Given the description of an element on the screen output the (x, y) to click on. 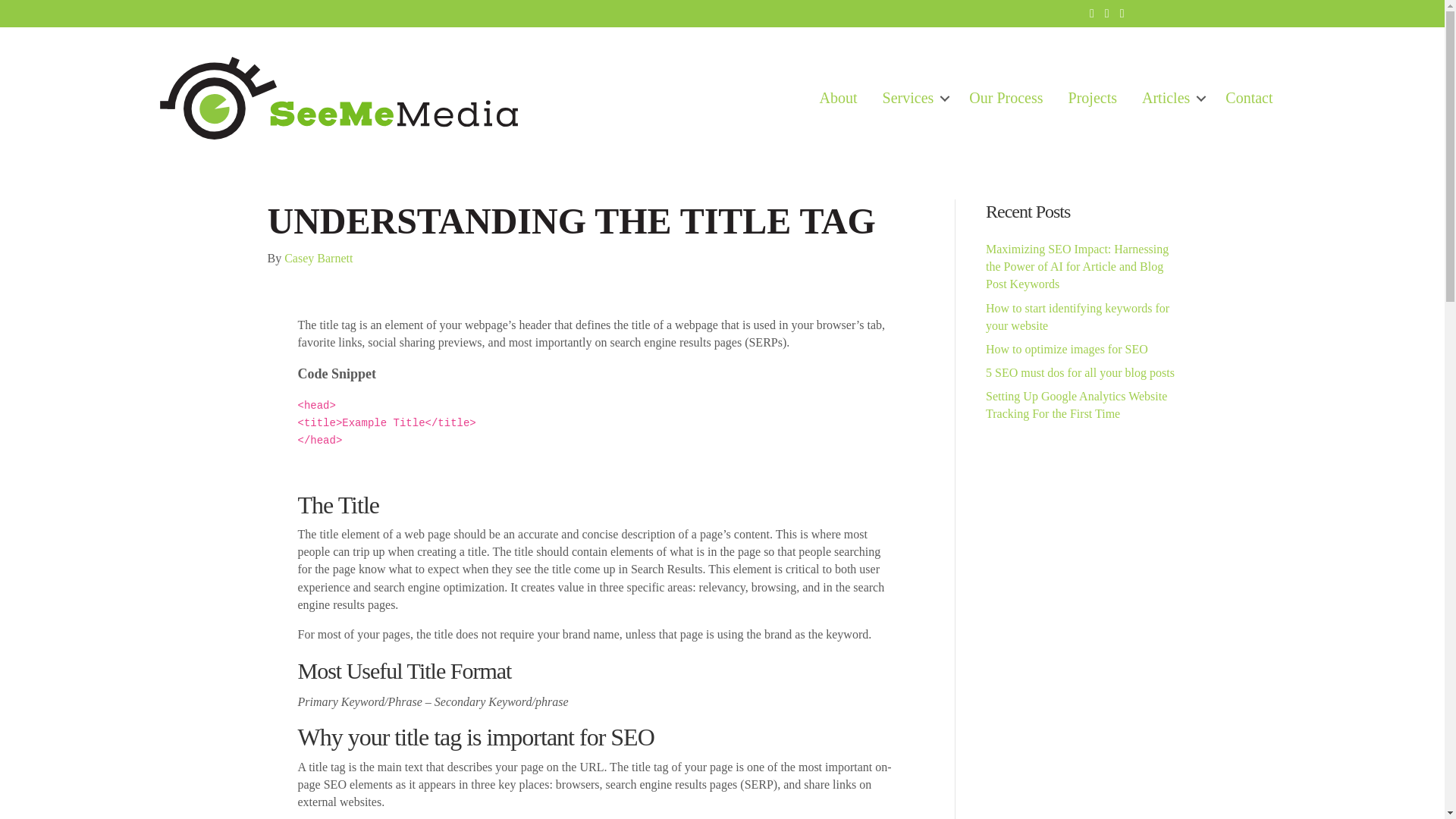
How to start identifying keywords for your website (1077, 317)
Casey Barnett (317, 257)
How to optimize images for SEO (1066, 349)
Articles (1170, 98)
About (838, 98)
Contact (1248, 98)
5 SEO must dos for all your blog posts (1079, 372)
Our Process (1005, 98)
Services (913, 98)
Projects (1093, 98)
